Given the description of an element on the screen output the (x, y) to click on. 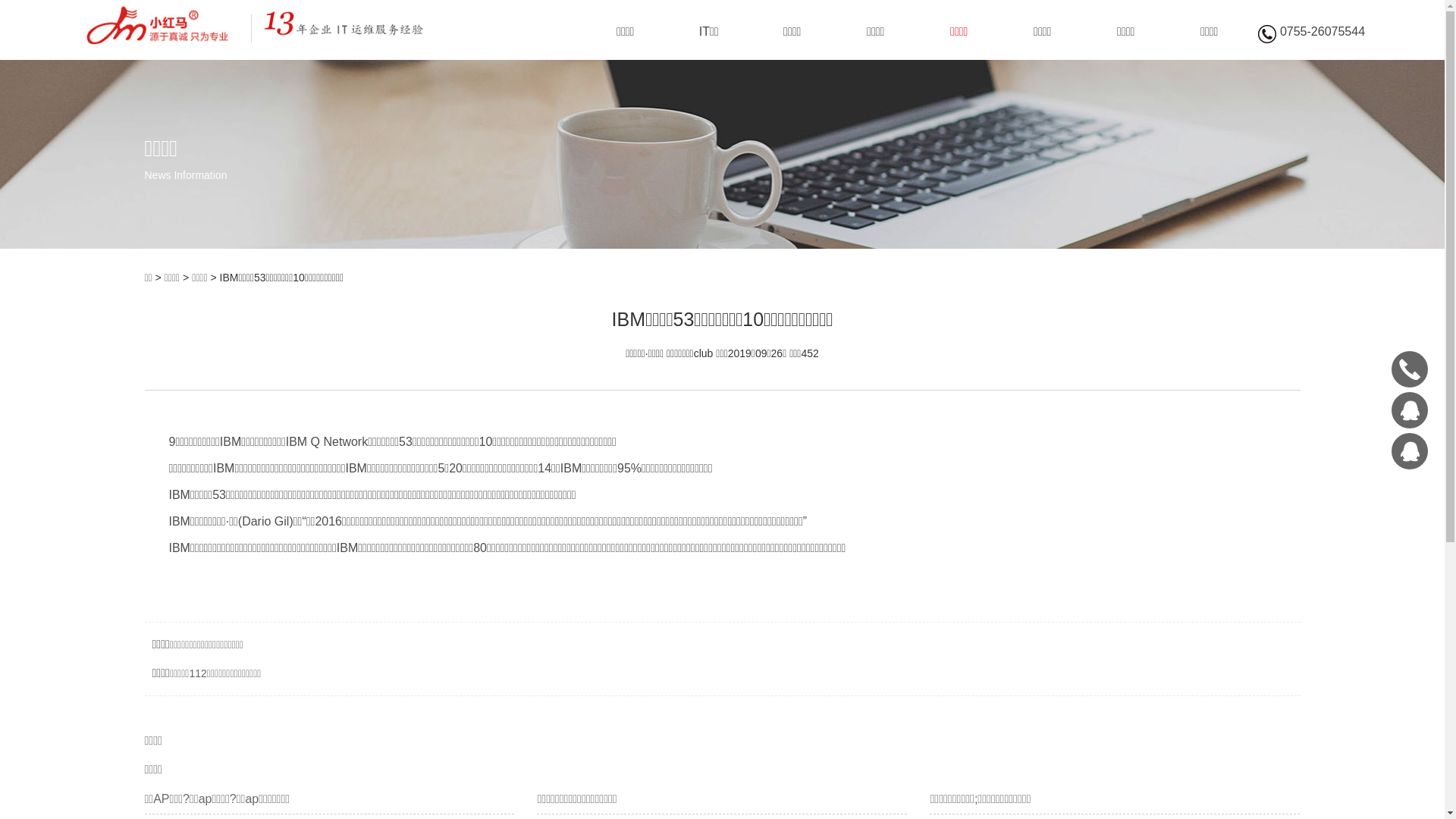
0755-26075544 Element type: text (1311, 33)
0755-26075544 Element type: text (1409, 369)
